Given the description of an element on the screen output the (x, y) to click on. 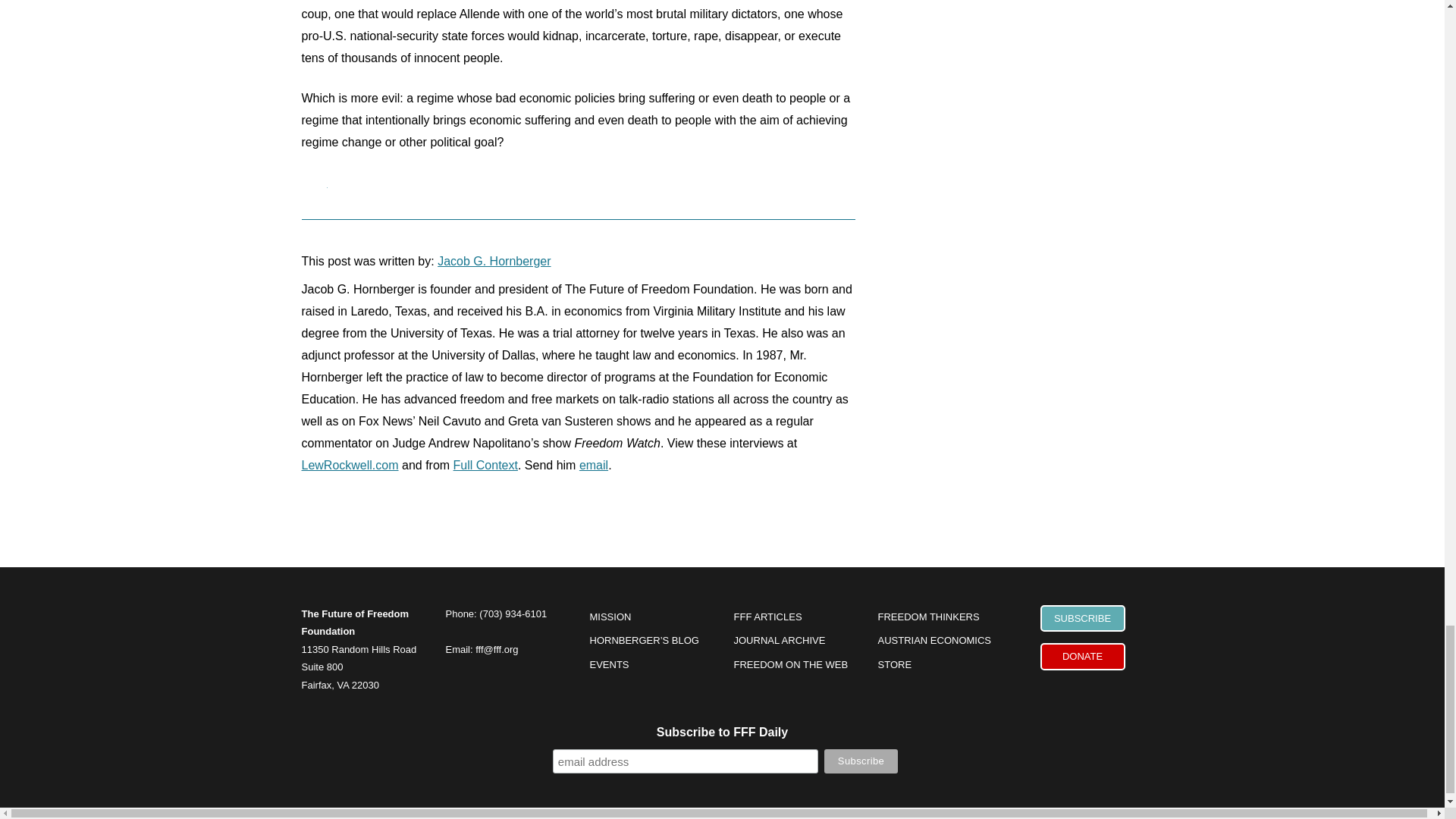
EMAIL (319, 179)
Subscribe (861, 761)
